Given the description of an element on the screen output the (x, y) to click on. 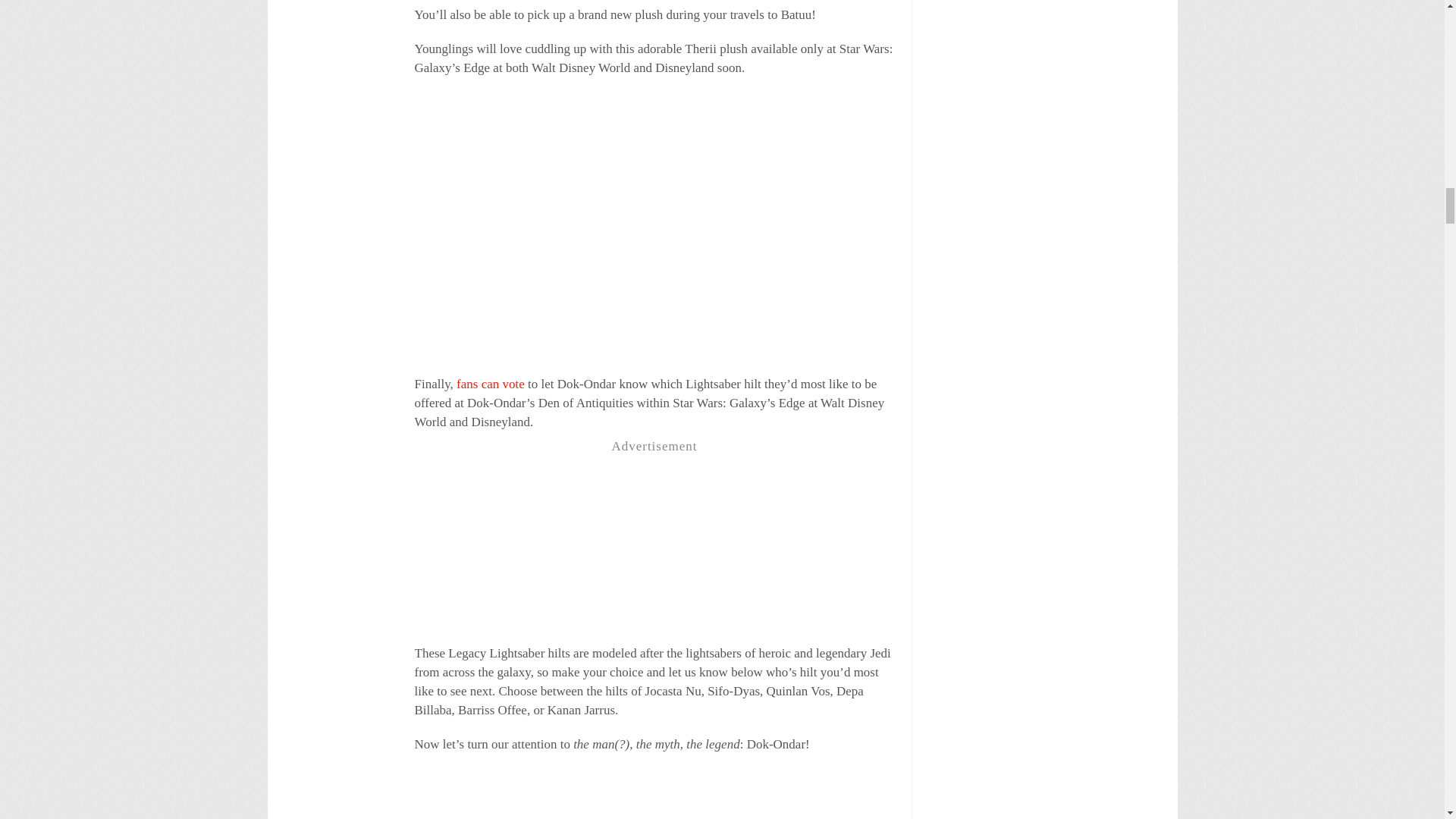
fans can vote (490, 383)
